Given the description of an element on the screen output the (x, y) to click on. 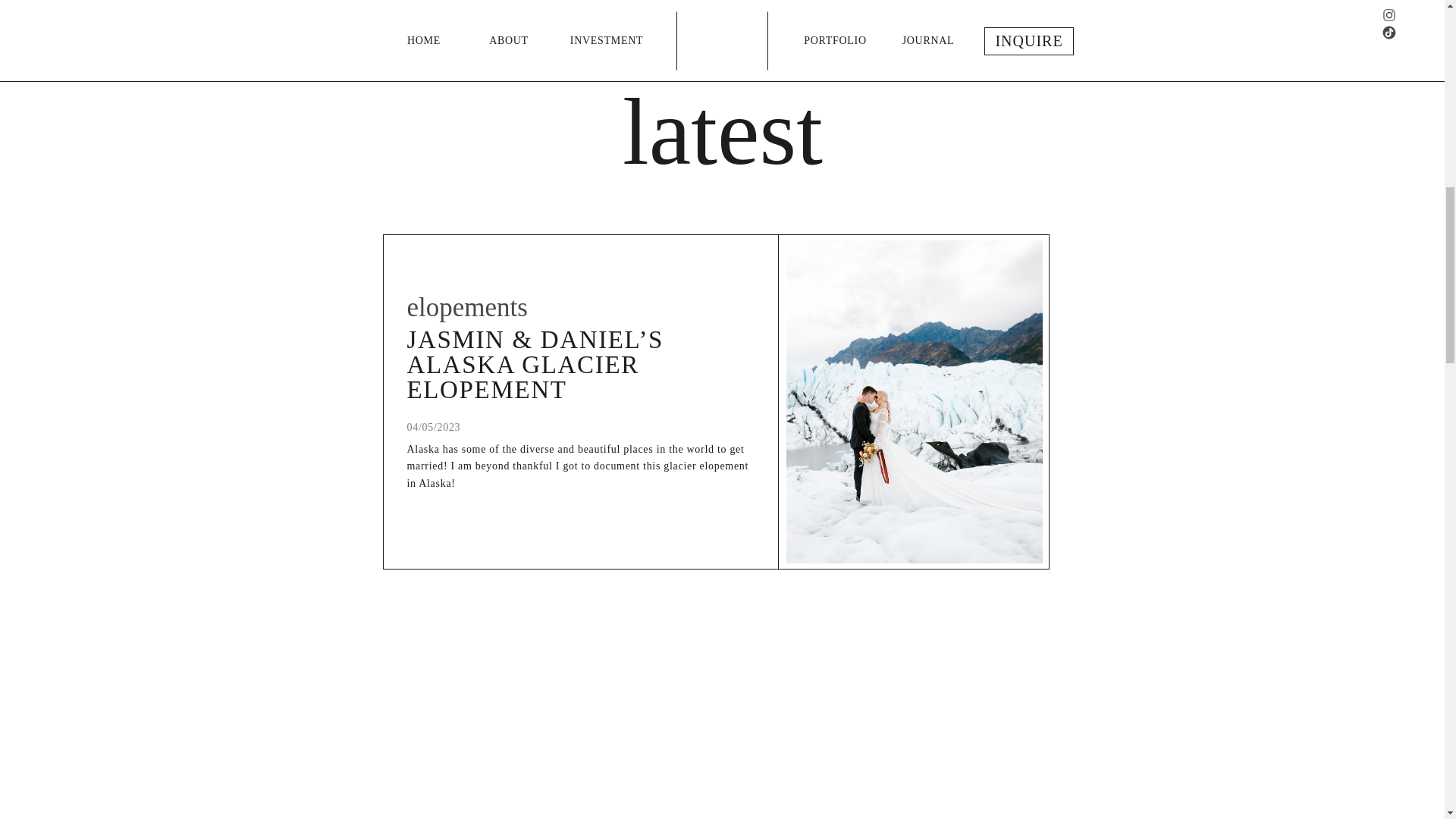
COUPLES (675, 25)
WEDDINGS (354, 25)
EDUCATION (827, 25)
elopements (466, 307)
ELOPEMENTS (519, 25)
